Given the description of an element on the screen output the (x, y) to click on. 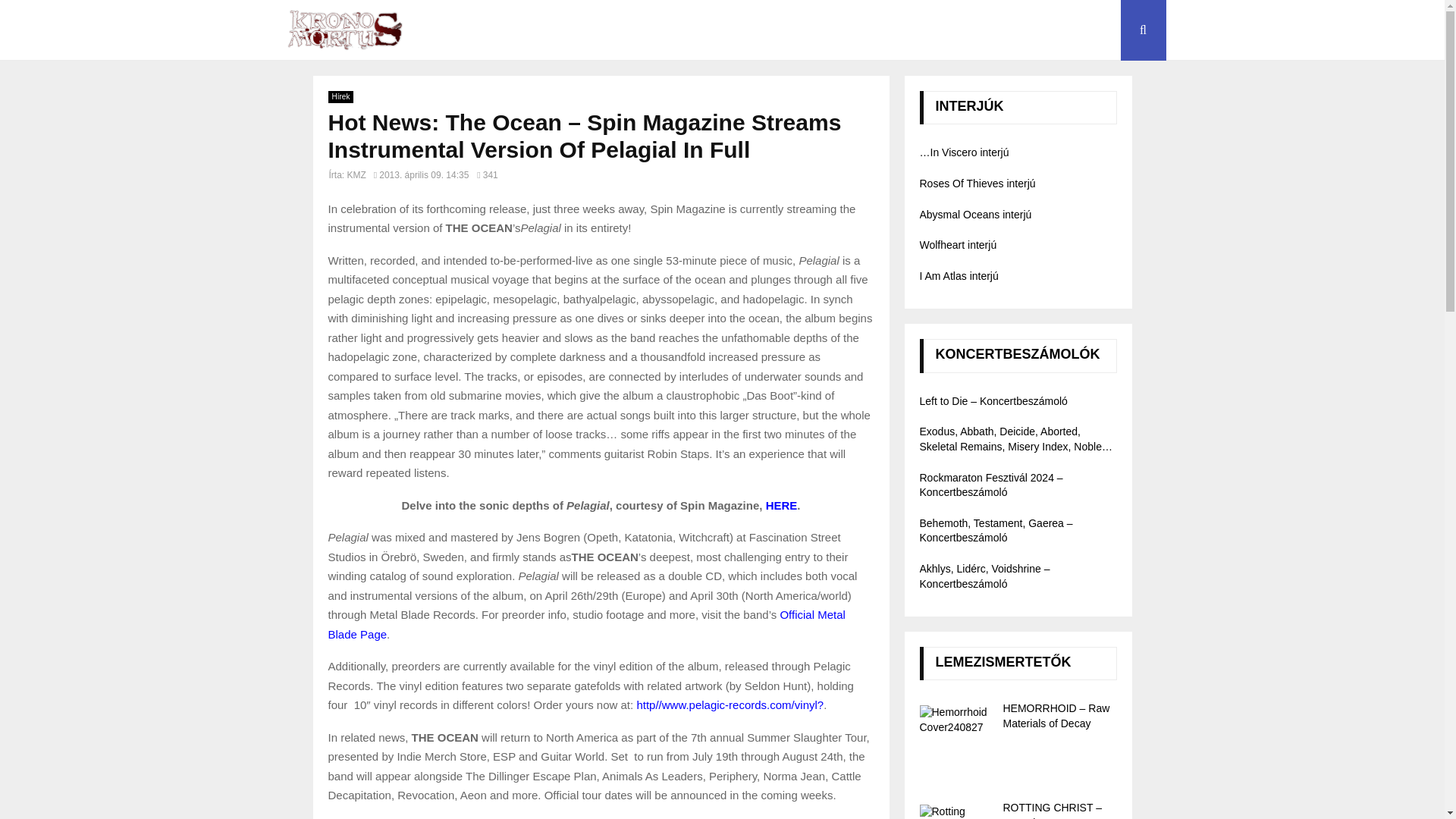
KMZ (356, 174)
Official Metal Blade Page (585, 624)
KONCERTEK (1007, 30)
HERE (781, 504)
AFTERLIFE (921, 30)
